Given the description of an element on the screen output the (x, y) to click on. 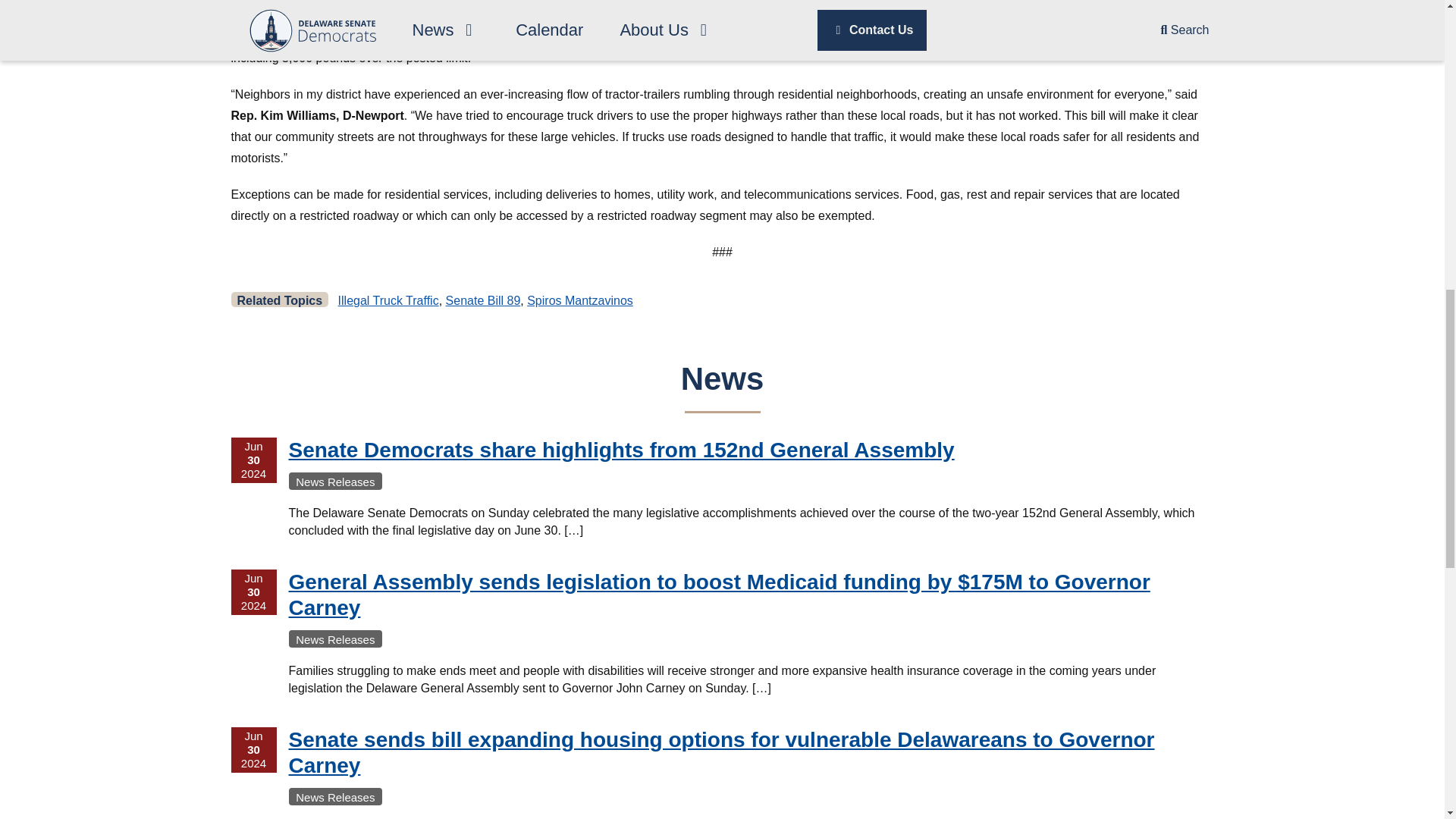
Senate Bill 89 (483, 300)
Illegal Truck Traffic (388, 300)
Spiros Mantzavinos (580, 300)
